Given the description of an element on the screen output the (x, y) to click on. 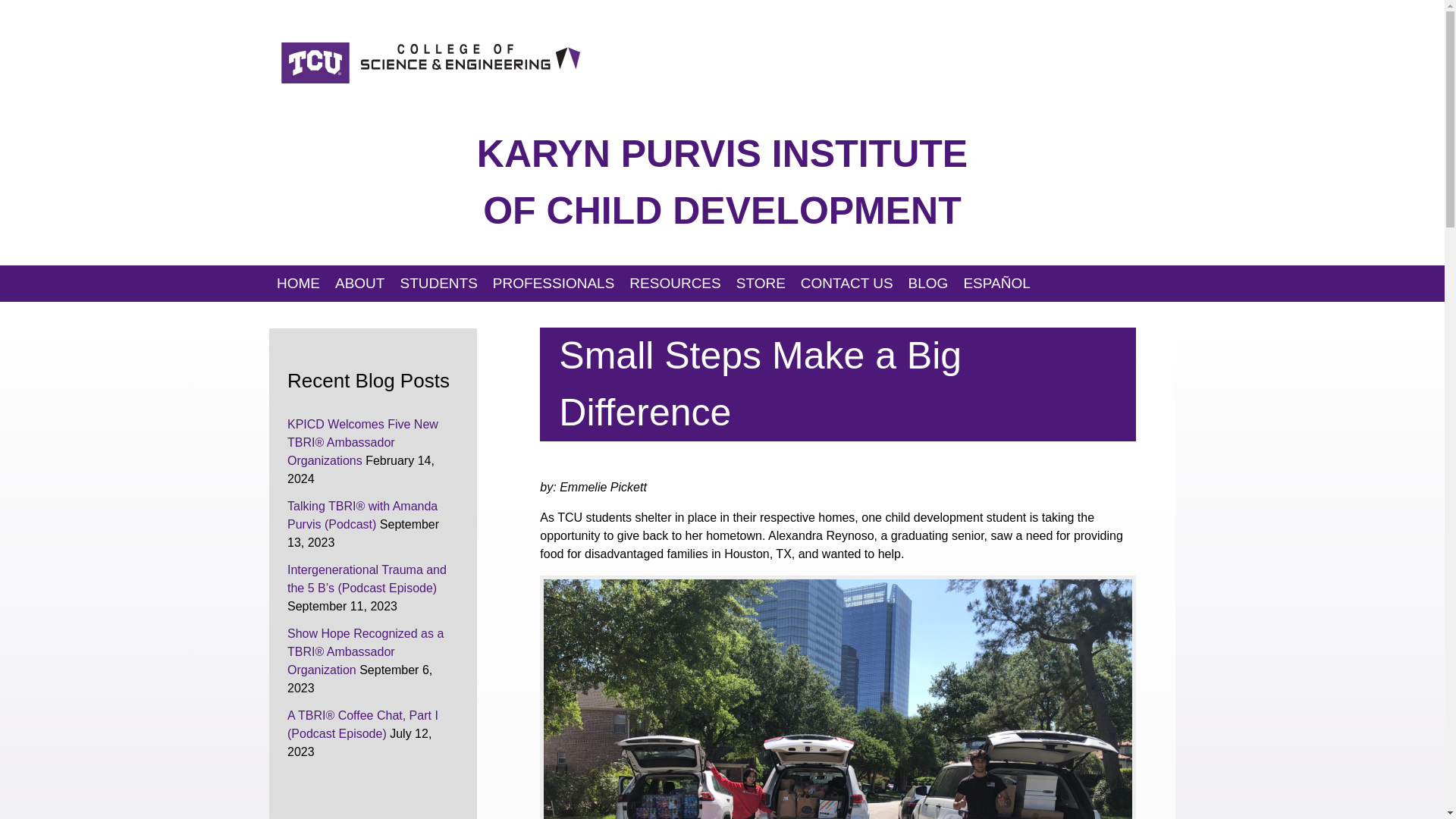
ABOUT (359, 283)
PROFESSIONALS (553, 283)
KARYN PURVIS INSTITUTE OF CHILD DEVELOPMENT (722, 181)
CONTACT US (847, 283)
HOME (298, 283)
STUDENTS (437, 283)
BLOG (928, 283)
RESOURCES (674, 283)
STORE (761, 283)
